Given the description of an element on the screen output the (x, y) to click on. 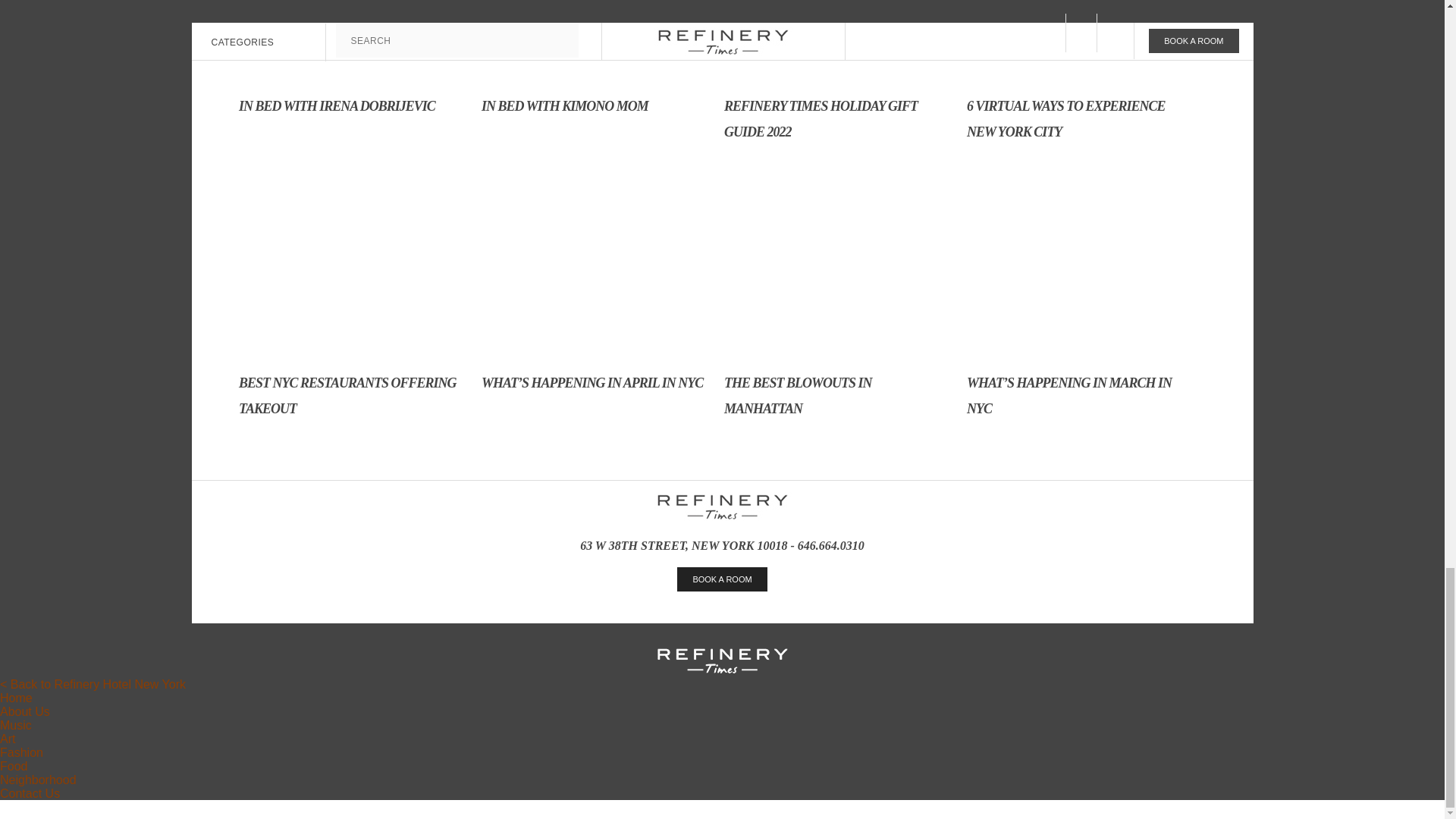
About Us (24, 711)
Home (16, 697)
Art (7, 738)
BOOK A ROOM (722, 579)
Fashion (21, 752)
IN BED WITH IRENA DOBRIJEVIC (351, 75)
REFINERY TIMES HOLIDAY GIFT GUIDE 2022 (837, 88)
6 VIRTUAL WAYS TO EXPERIENCE NEW YORK CITY (1079, 88)
Food (13, 766)
BEST NYC RESTAURANTS OFFERING TAKEOUT (351, 328)
